Given the description of an element on the screen output the (x, y) to click on. 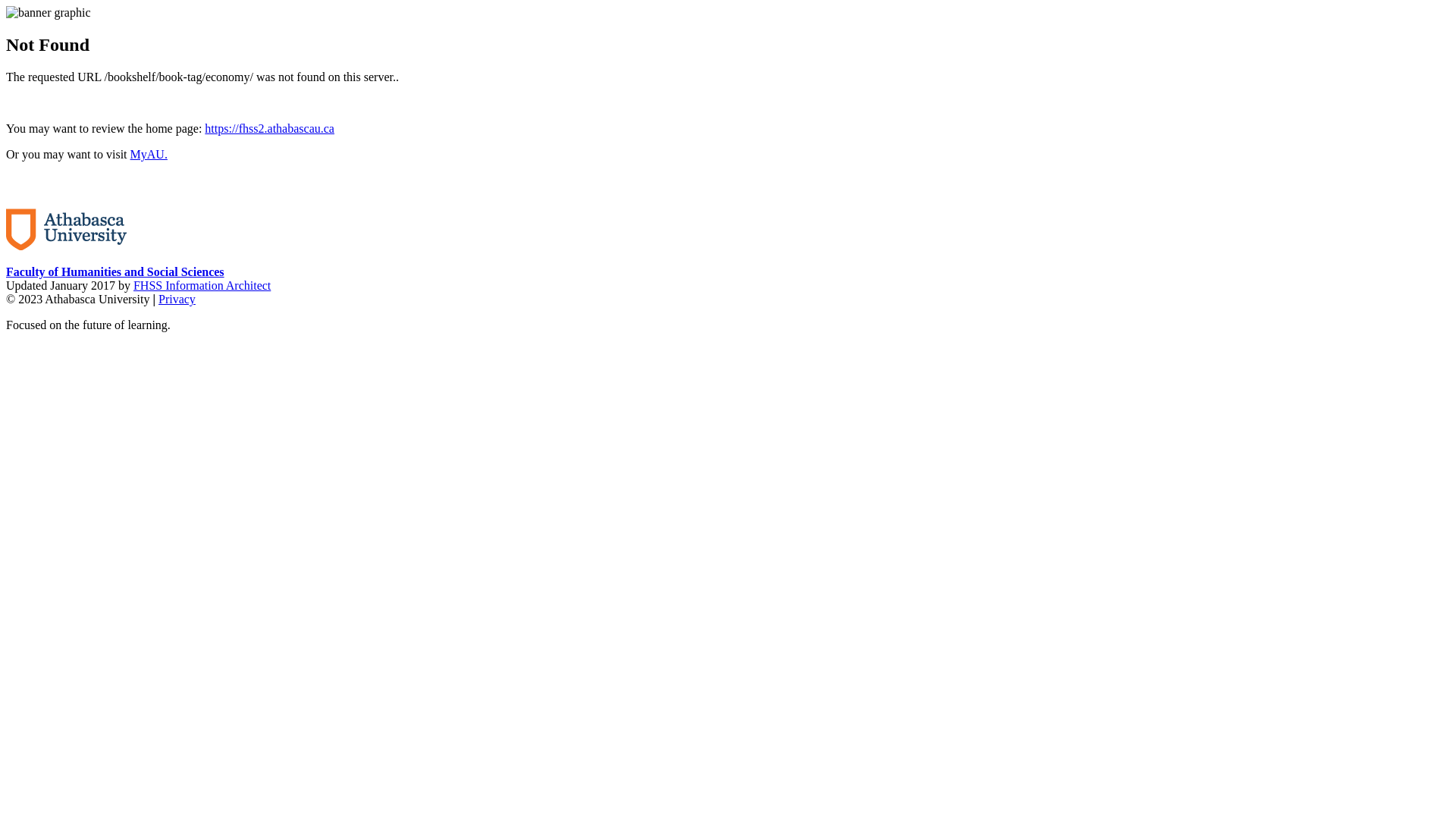
FHSS Information Architect Element type: text (201, 285)
Faculty of Humanities and Social Sciences Element type: text (115, 271)
Privacy Element type: text (176, 298)
MyAU. Element type: text (148, 153)
https://fhss2.athabascau.ca Element type: text (269, 128)
